Given the description of an element on the screen output the (x, y) to click on. 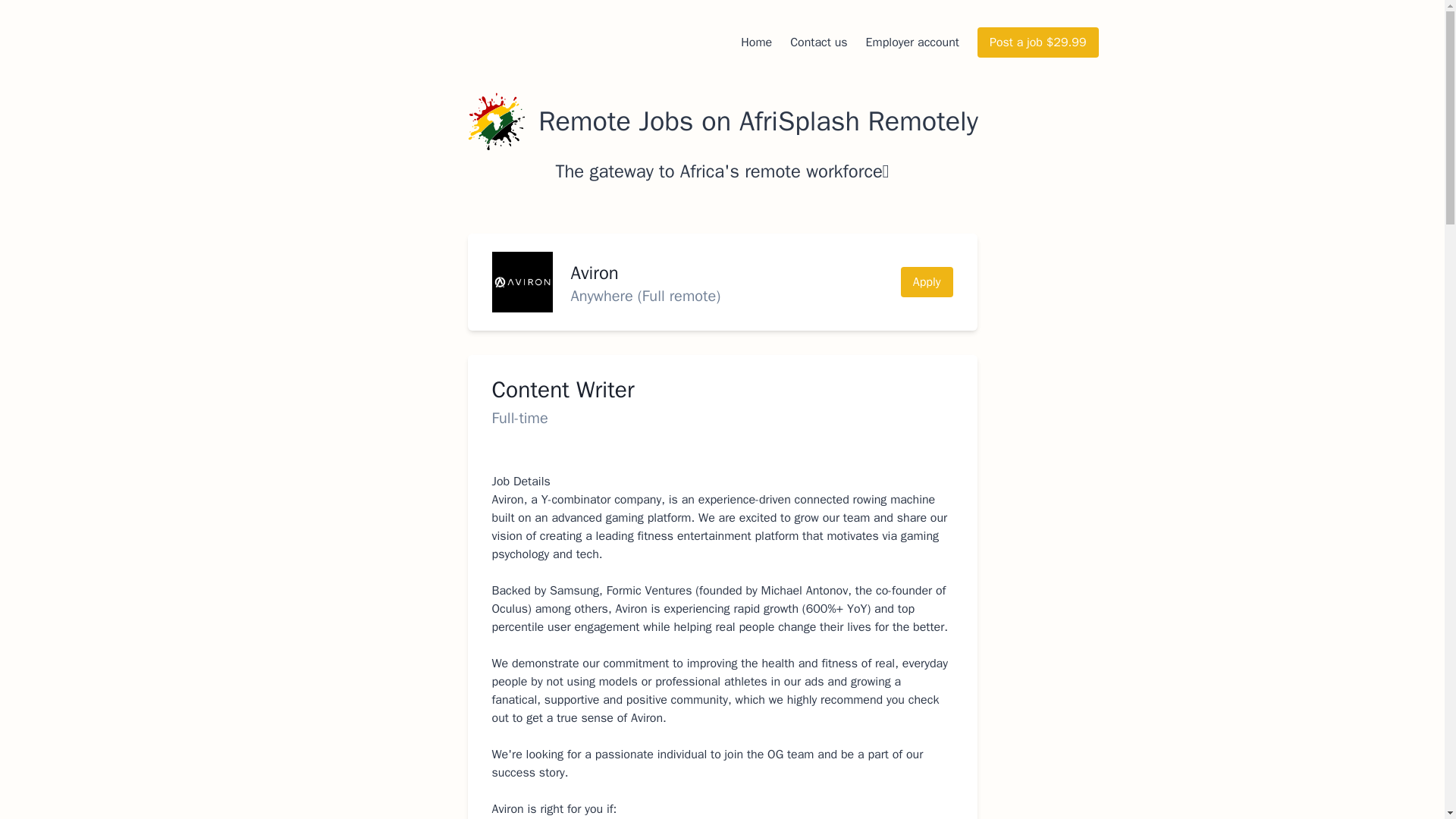
Go to the jobs list (721, 120)
Contact us (818, 42)
Home (756, 42)
Remote Jobs on AfriSplash Remotely (721, 120)
Apply (927, 281)
Employer account (912, 42)
Remote Jobs on AfriSplash Remotely (495, 120)
